Given the description of an element on the screen output the (x, y) to click on. 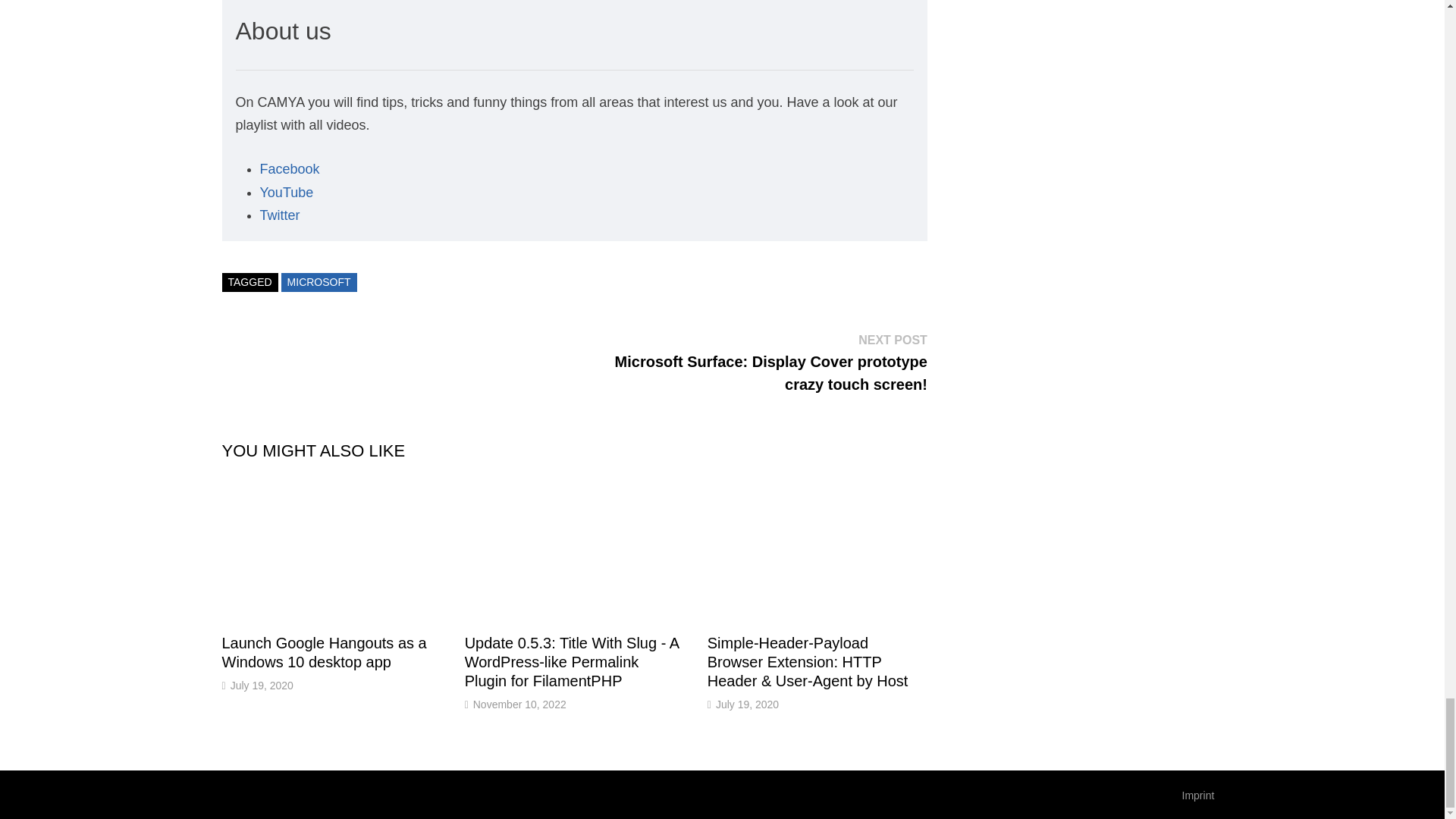
YouTube (286, 192)
Launch Google Hangouts as a Windows 10 desktop app (323, 652)
Facebook (288, 168)
July 19, 2020 (262, 685)
July 19, 2020 (747, 704)
Twitter (279, 215)
November 10, 2022 (519, 704)
MICROSOFT (318, 281)
Launch Google Hangouts as a Windows 10 desktop app (323, 652)
